Given the description of an element on the screen output the (x, y) to click on. 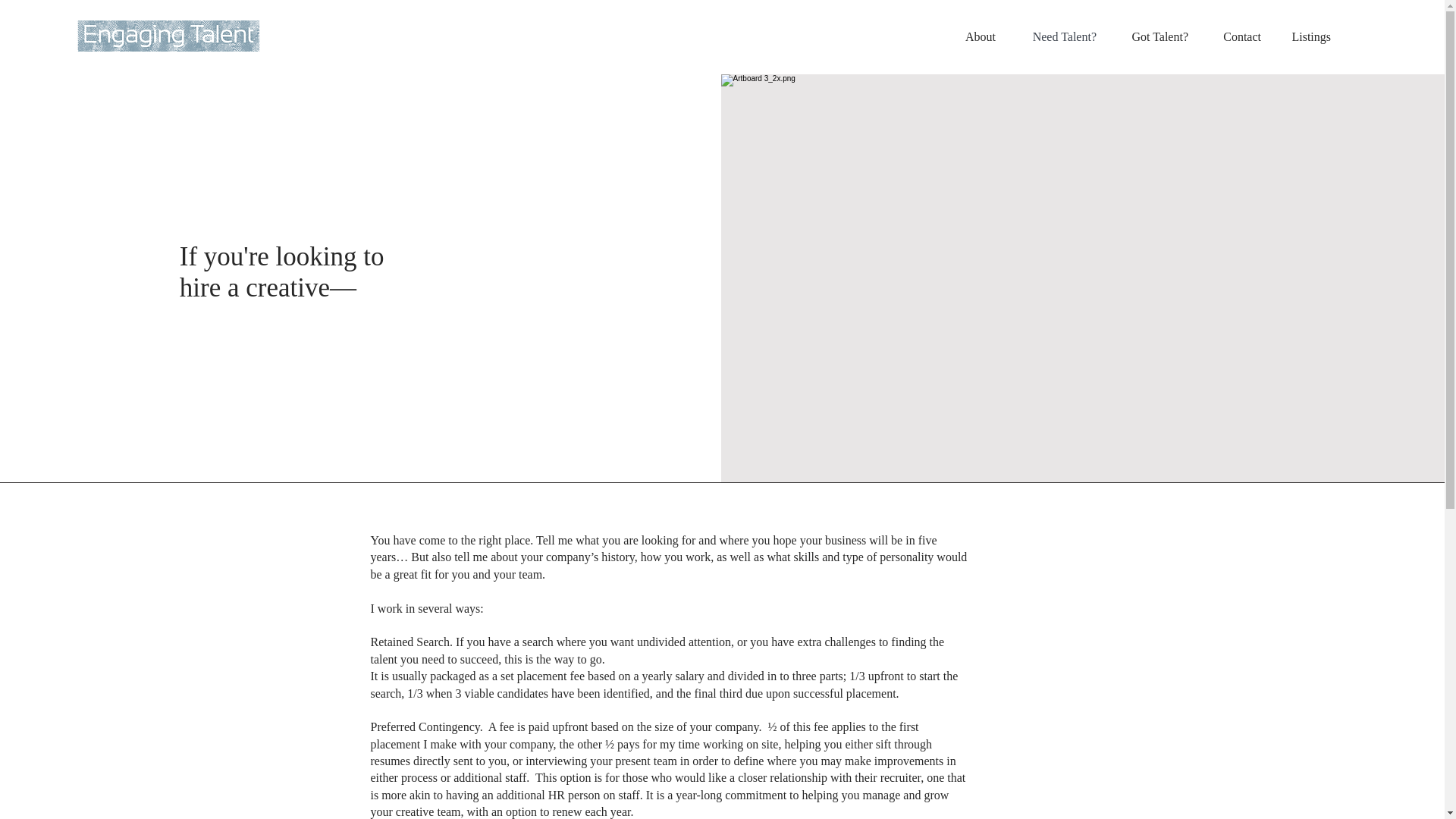
Need Talent? (1057, 37)
Contact (1235, 37)
Got Talent? (1153, 37)
About (978, 37)
Listings (1307, 37)
